Given the description of an element on the screen output the (x, y) to click on. 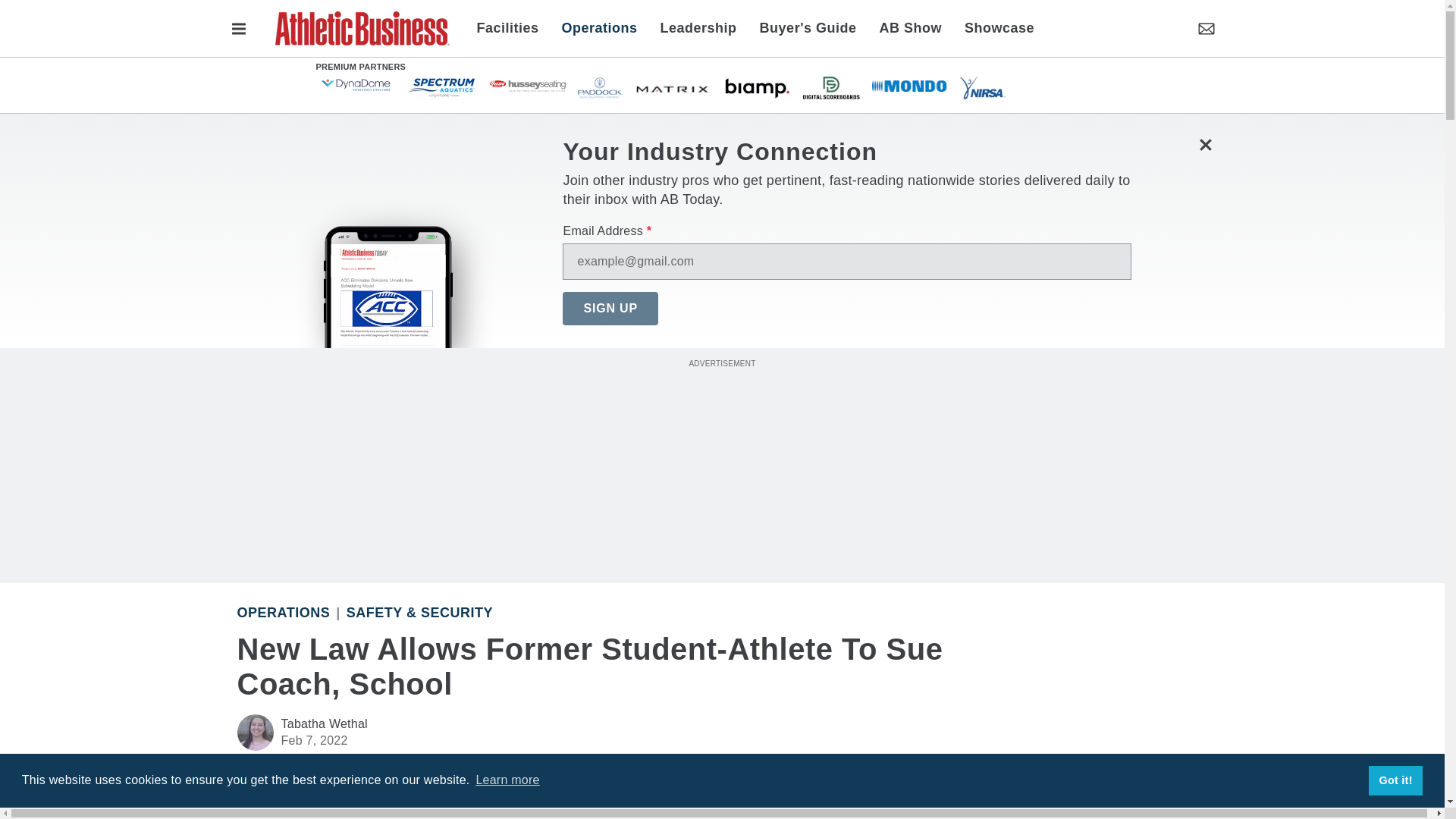
Spectrum Aquatics (441, 87)
Buyer's Guide (807, 27)
Digital Scoreboards (830, 87)
Operations (599, 27)
Paddock Pool Equipment (600, 87)
Learn more (507, 780)
Facilities (513, 27)
Got it! (1395, 780)
Hussey Seating Company (527, 85)
Matrix Fitness (672, 87)
AB Show (910, 27)
DynaDome Retractable Enclosures (356, 85)
Biamp Systems (756, 87)
Leadership (698, 27)
Showcase (993, 27)
